Given the description of an element on the screen output the (x, y) to click on. 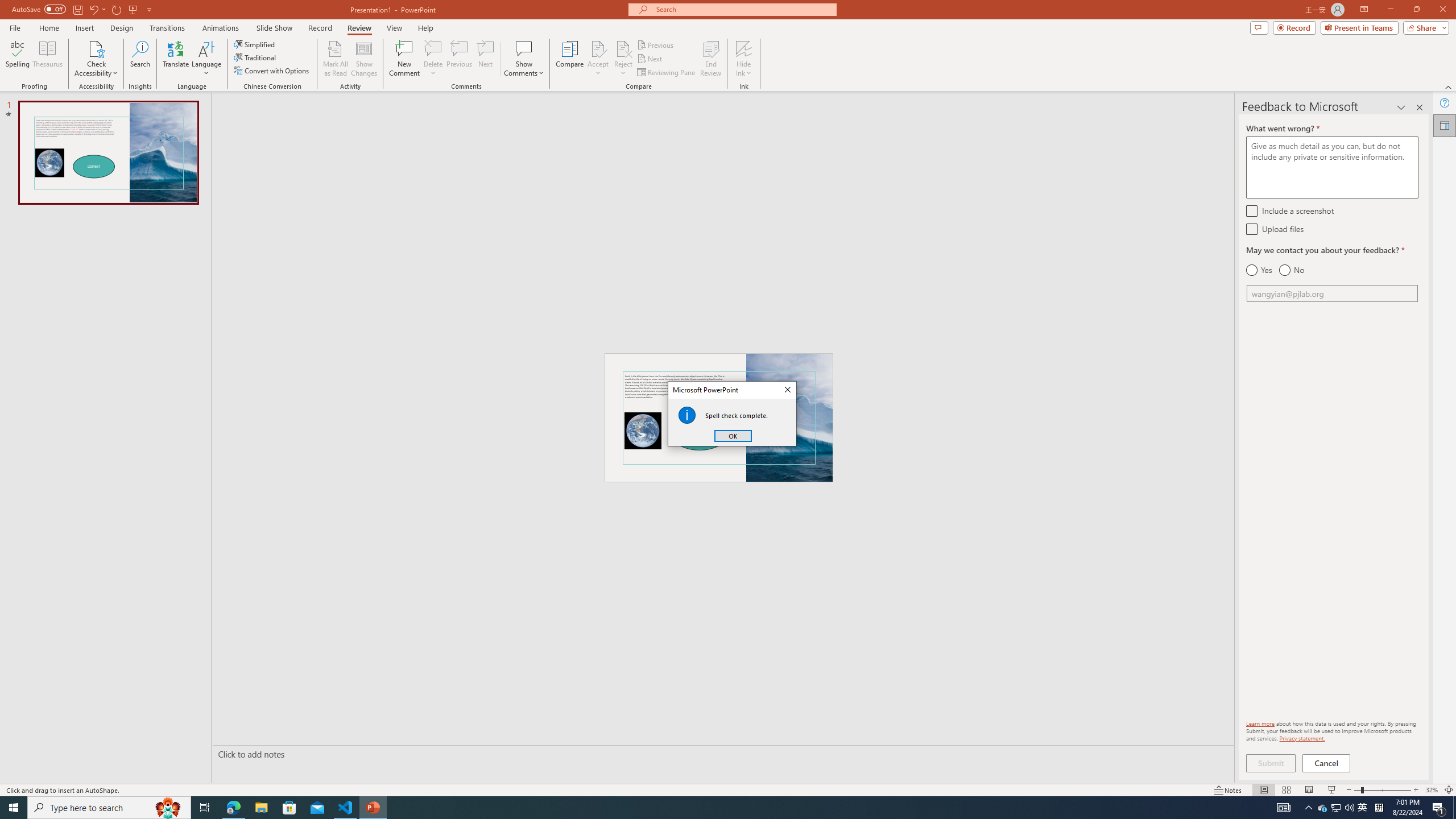
Check Accessibility (95, 58)
New Comment (403, 58)
Hide Ink (743, 58)
Traditional (255, 56)
Compare (569, 58)
Privacy statement. (1301, 738)
